Given the description of an element on the screen output the (x, y) to click on. 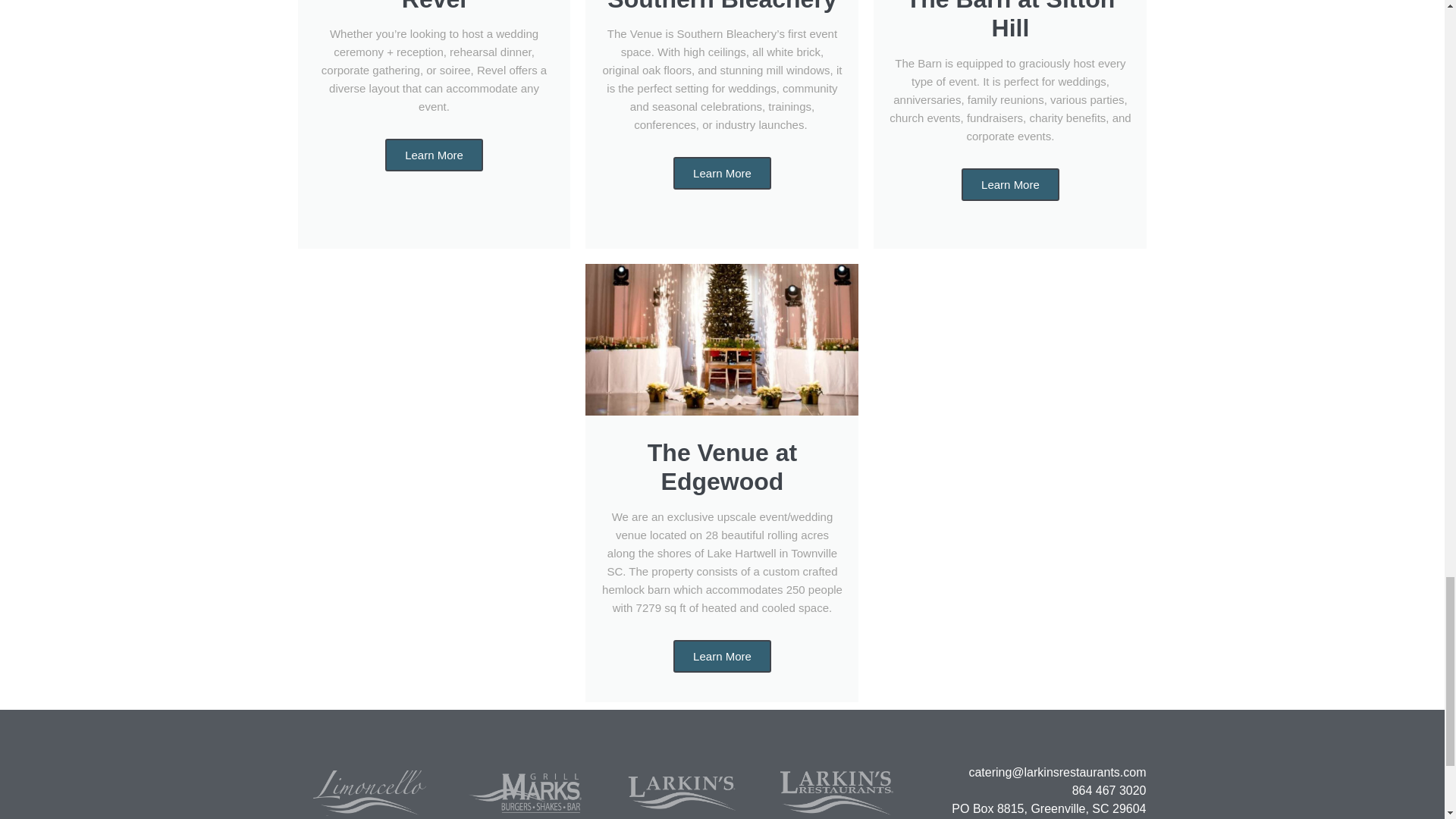
Learn More (1009, 184)
Learn More (434, 154)
Learn More (721, 655)
Learn More (721, 173)
